Given the description of an element on the screen output the (x, y) to click on. 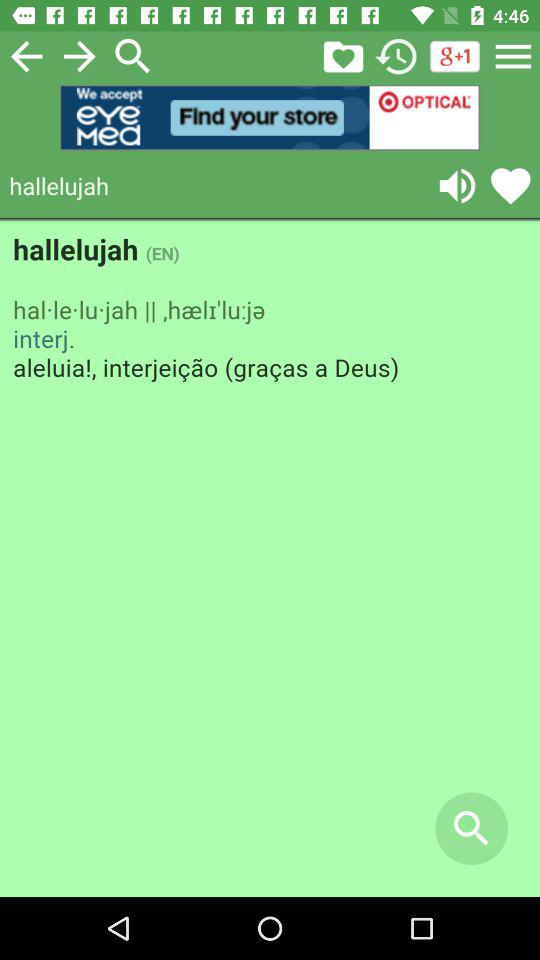
go to next page (79, 56)
